Given the description of an element on the screen output the (x, y) to click on. 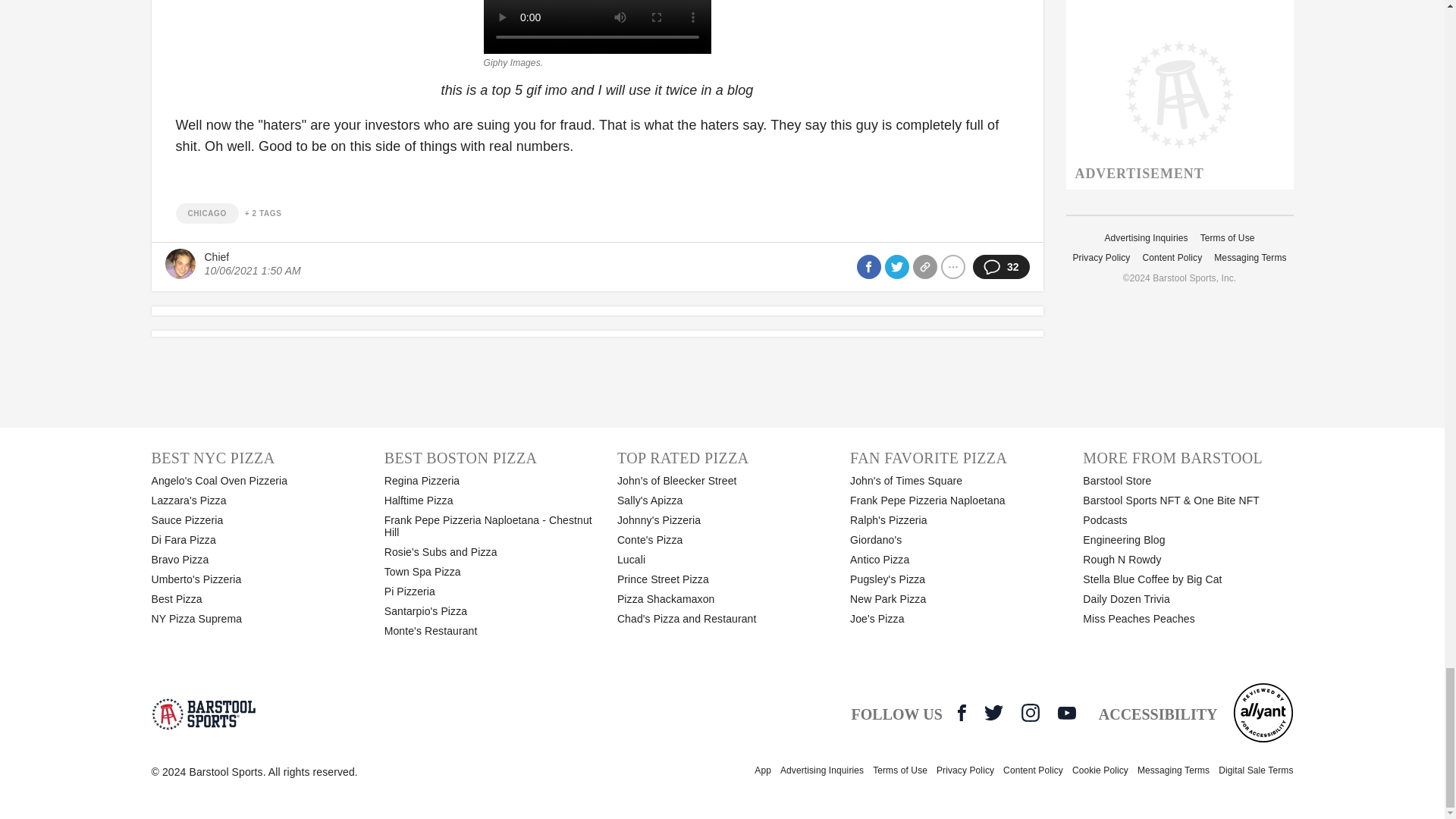
Instagram Icon (1030, 712)
YouTube Icon (1066, 712)
Twitter Icon (993, 712)
Reviewed by Allyant for accessibility (1263, 712)
